Given the description of an element on the screen output the (x, y) to click on. 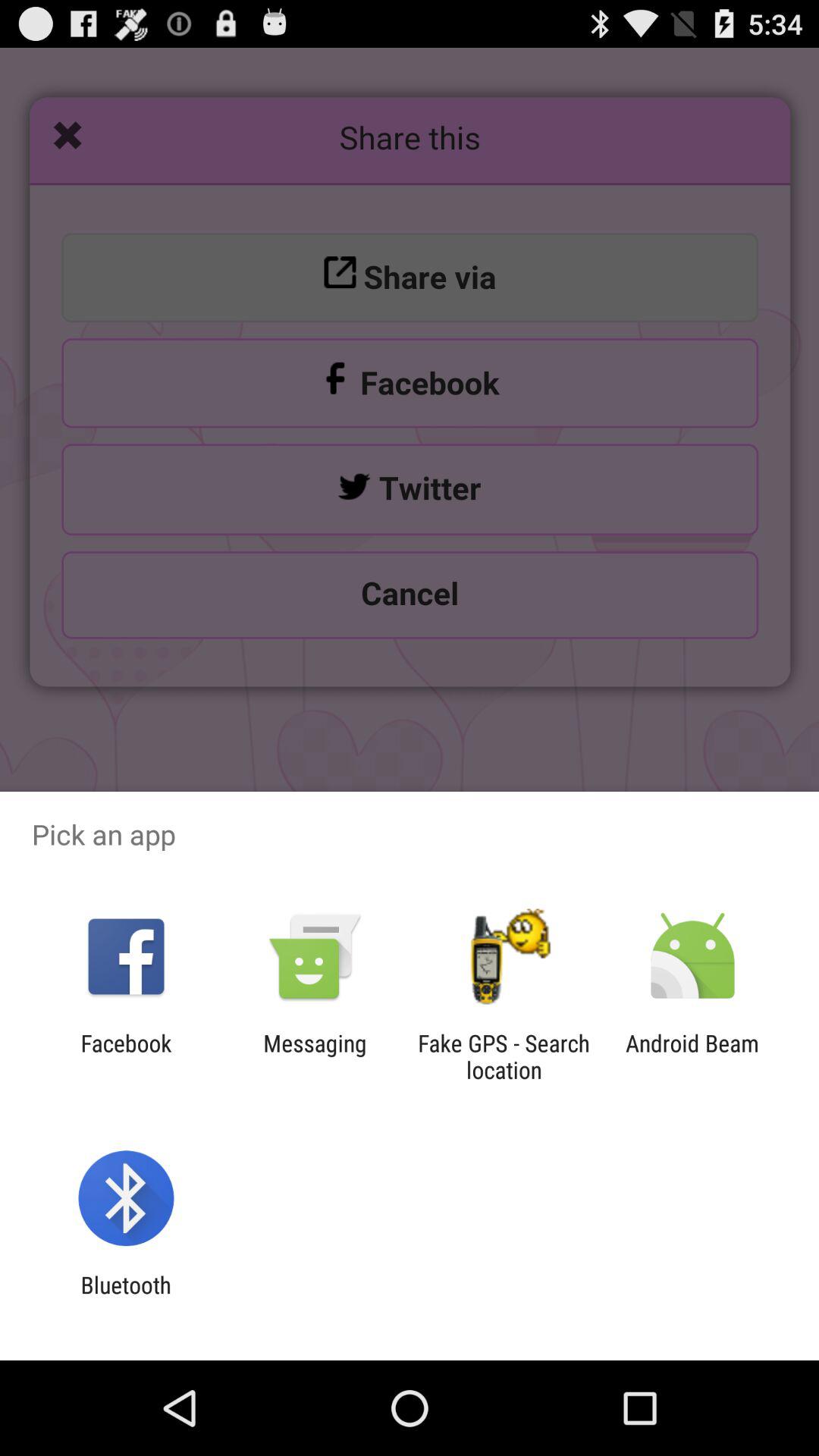
press the icon to the right of messaging item (503, 1056)
